Given the description of an element on the screen output the (x, y) to click on. 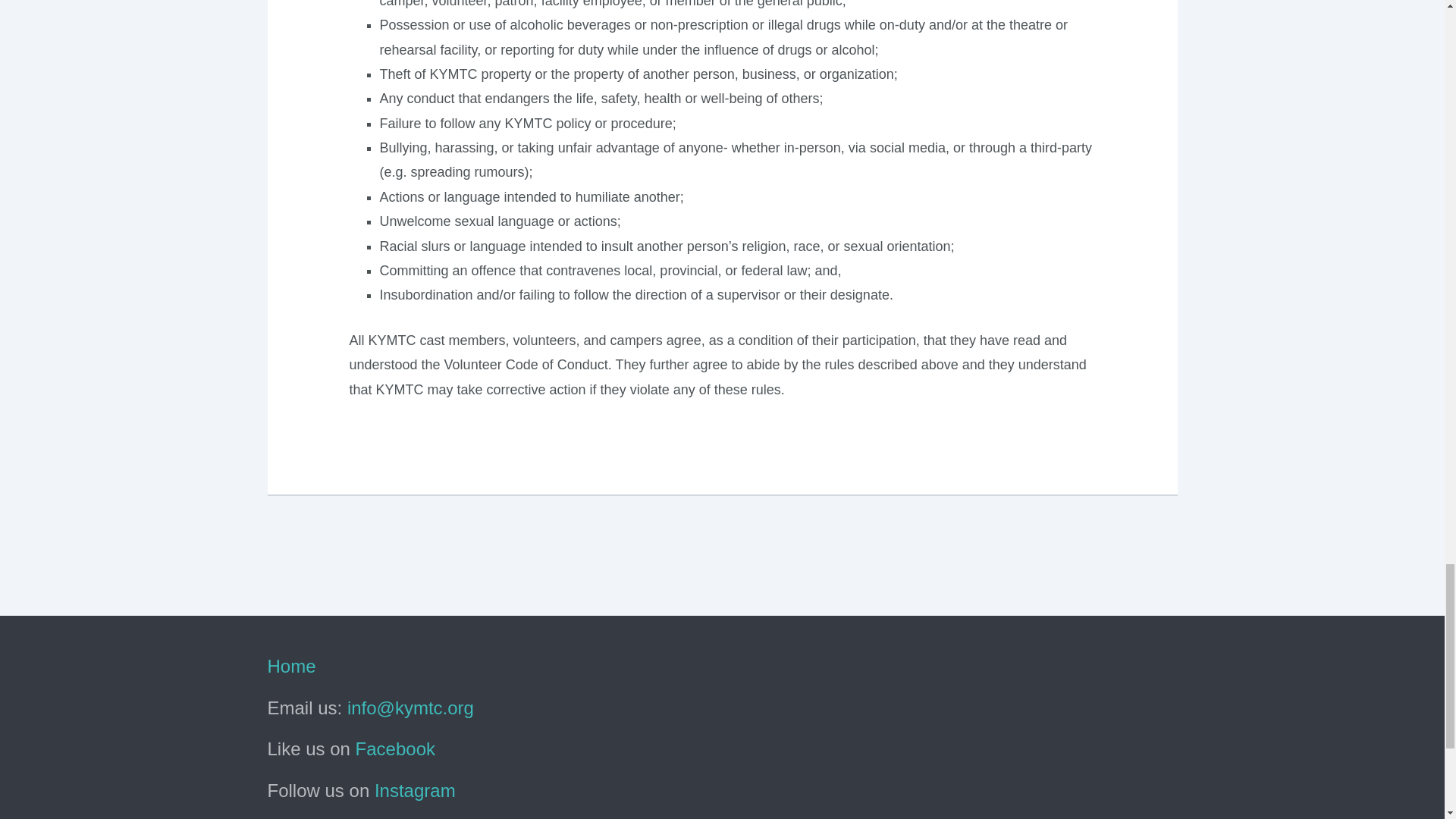
Instagram (414, 790)
Home (290, 666)
Facebook (395, 748)
